Given the description of an element on the screen output the (x, y) to click on. 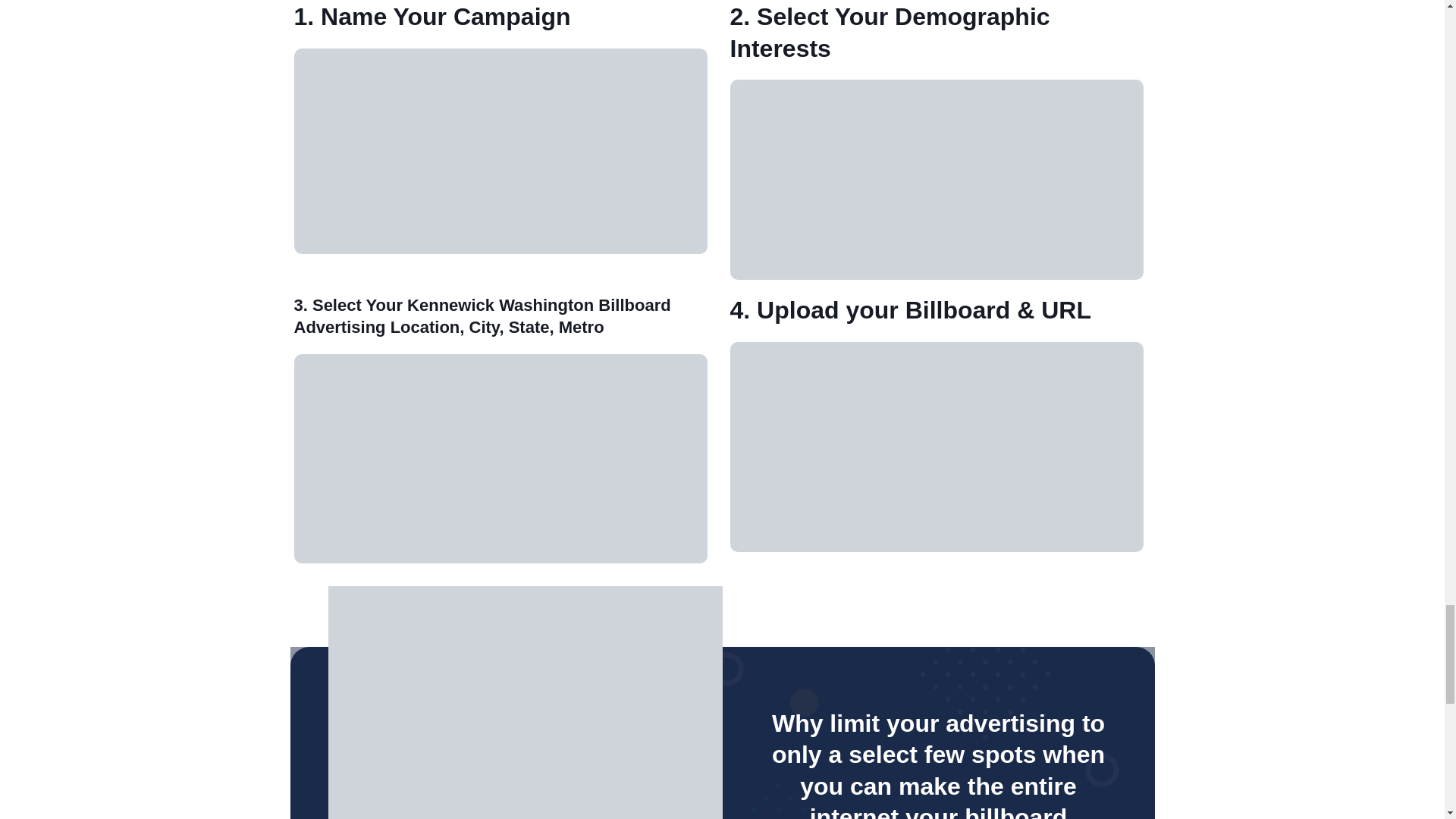
Kennewick Washington Billboard Advertising 1 (500, 151)
Kennewick Washington Billboard Advertising 5 (524, 702)
Kennewick Washington Billboard Advertising 4 (935, 447)
Kennewick Washington Billboard Advertising 2 (935, 179)
Kennewick Washington Billboard Advertising 3 (500, 458)
